Given the description of an element on the screen output the (x, y) to click on. 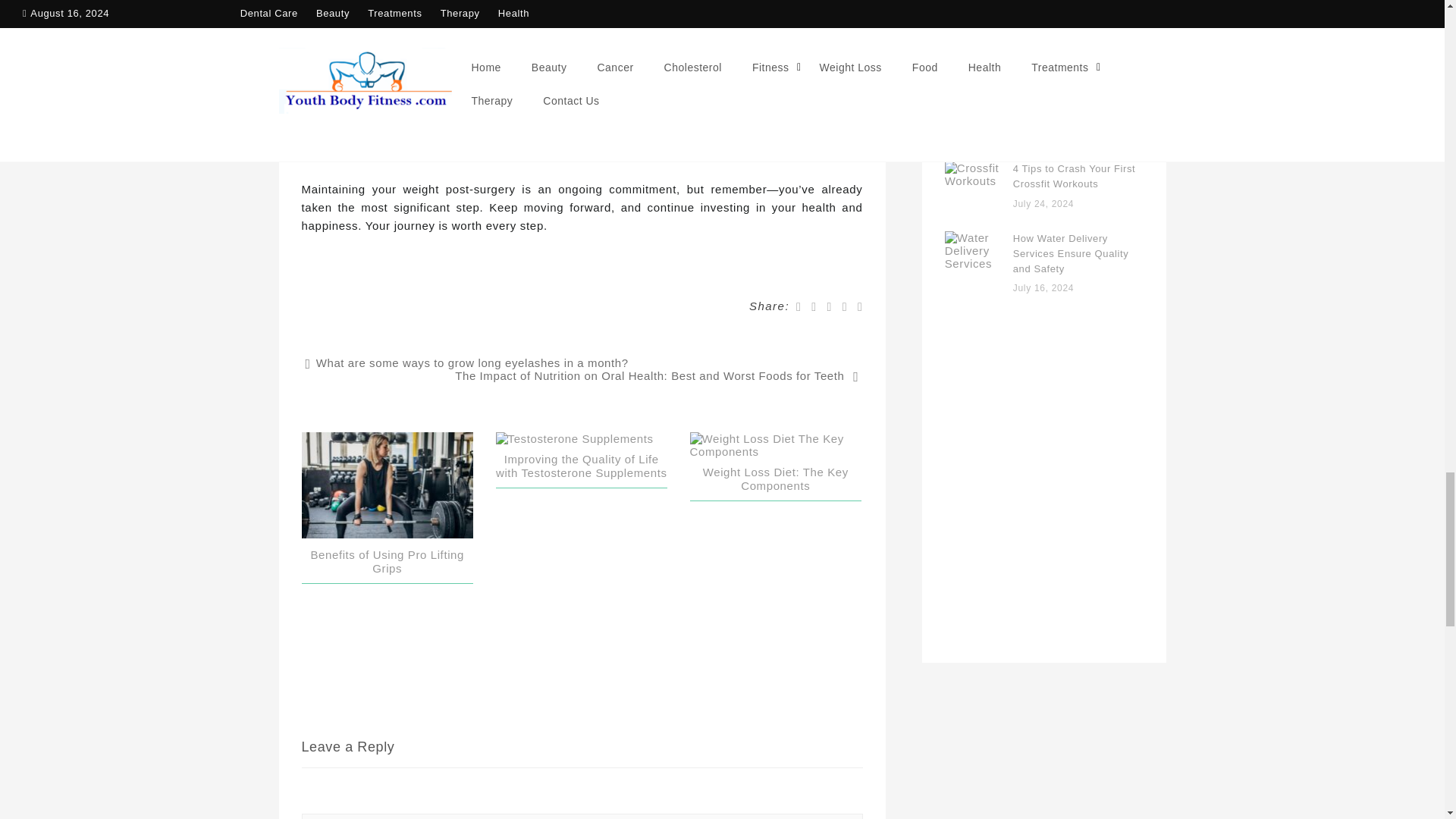
Benefits of Using Pro Lifting Grips (387, 560)
Permanent link to 9 Ways to Reduce Heart Attack in the 20s (1074, 107)
Permanent link to Benefits of Using Pro Lifting Grips (1074, 37)
Turkey gastric sleeve (658, 92)
What are some ways to grow long eyelashes in a month? (466, 361)
